Given the description of an element on the screen output the (x, y) to click on. 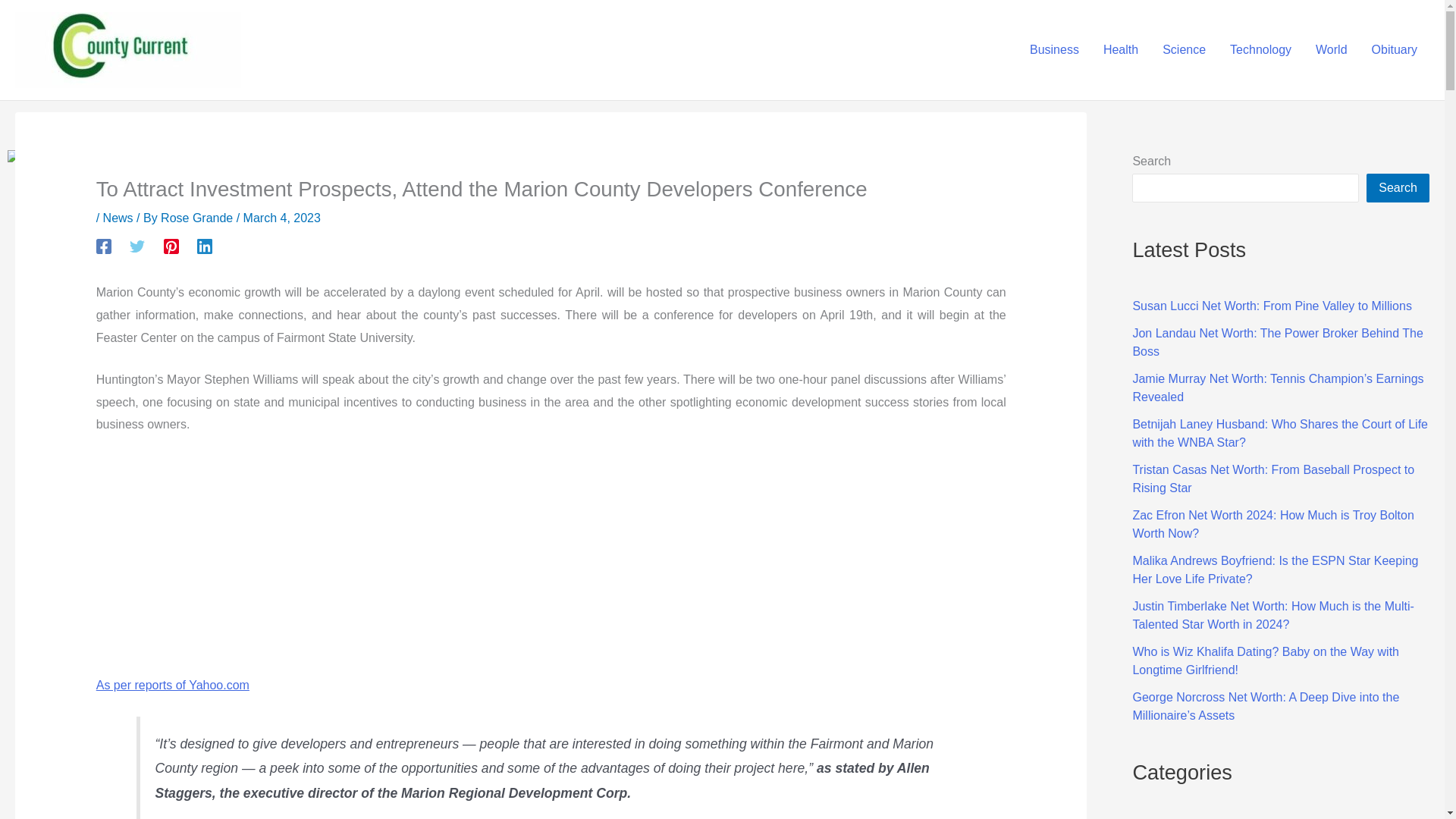
Rose Grande (197, 217)
News (118, 217)
Science (1183, 49)
World (1331, 49)
As per reports of Yahoo.com (172, 684)
Health (1120, 49)
Obituary (1394, 49)
View all posts by Rose Grande (197, 217)
Business (1053, 49)
Advertisement (380, 561)
Technology (1260, 49)
